Given the description of an element on the screen output the (x, y) to click on. 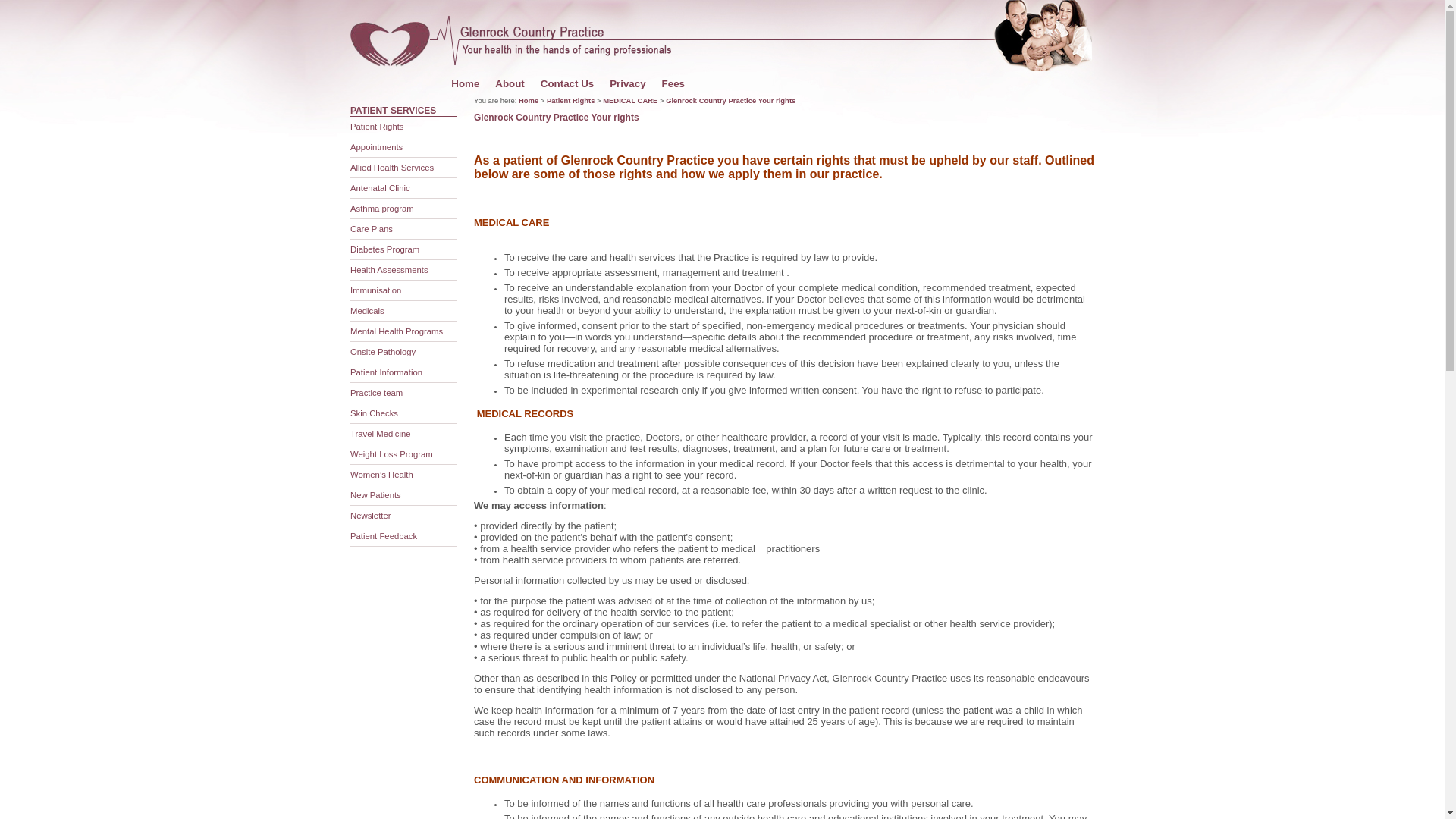
Mental Health Programs Element type: text (396, 330)
Newsletter Element type: text (370, 515)
Practice team Element type: text (376, 392)
Immunisation Element type: text (375, 289)
Home Element type: text (465, 83)
Home Element type: text (528, 100)
Contact Us Element type: text (566, 83)
Allied Health Services Element type: text (391, 167)
Medicals Element type: text (367, 310)
MEDICAL CARE Element type: text (629, 100)
Onsite Pathology Element type: text (382, 351)
Privacy Element type: text (627, 83)
About Element type: text (509, 83)
Skin Checks Element type: text (374, 412)
Health Assessments Element type: text (389, 269)
Asthma program Element type: text (382, 208)
Patient Information Element type: text (386, 371)
Appointments Element type: text (376, 146)
Fees Element type: text (673, 83)
Care Plans Element type: text (371, 228)
Glenrock Country Practice Your rights Element type: text (730, 100)
Diabetes Program Element type: text (384, 249)
Patient Rights Element type: text (570, 100)
New Patients Element type: text (375, 494)
Antenatal Clinic Element type: text (380, 187)
Patient Rights Element type: text (377, 126)
Weight Loss Program Element type: text (391, 453)
Travel Medicine Element type: text (380, 433)
Patient Feedback Element type: text (383, 535)
